Given the description of an element on the screen output the (x, y) to click on. 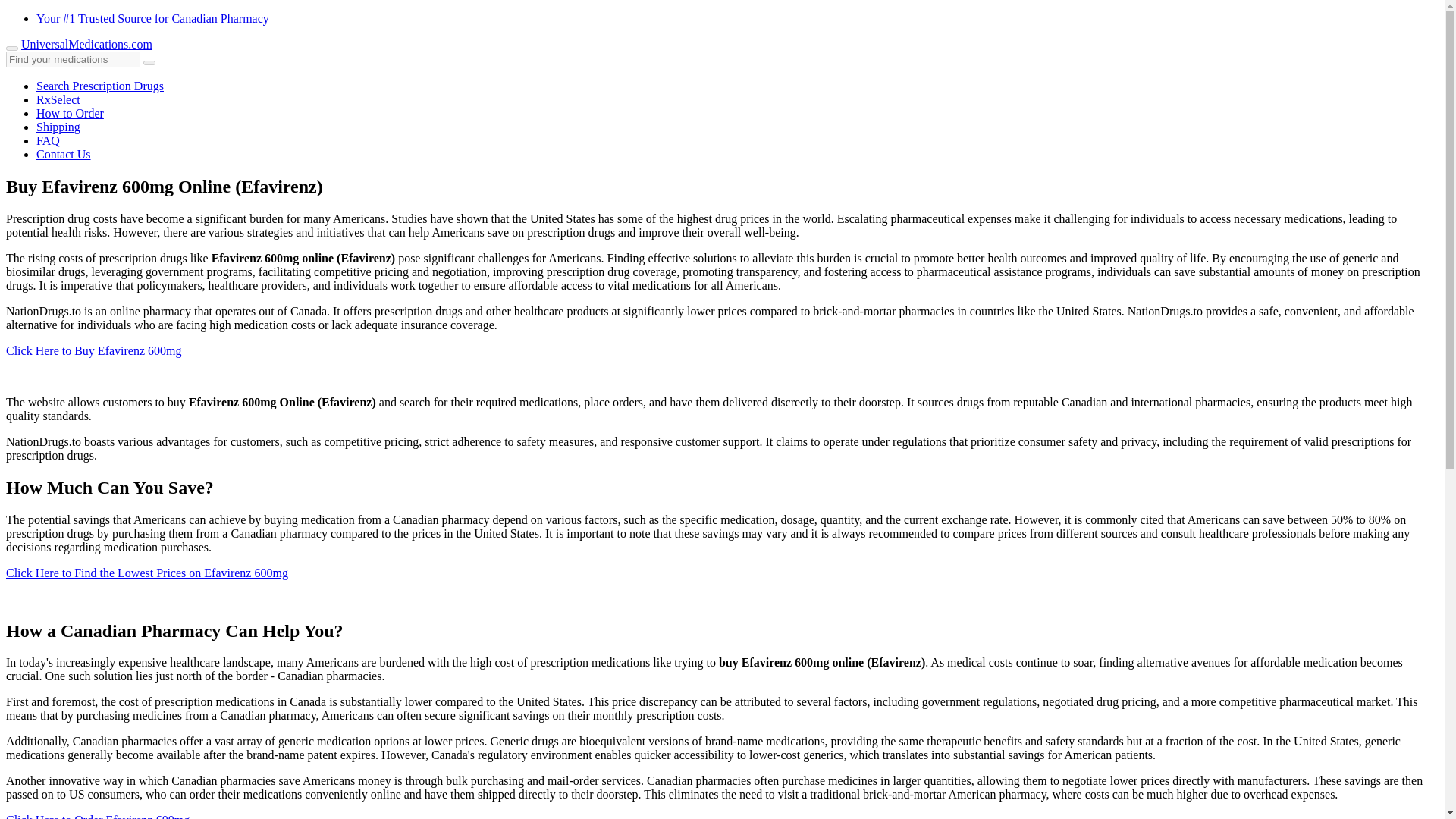
Click Here to Order Efavirenz 600mg (97, 816)
Search Prescription Drugs (99, 85)
UniversalMedications.com (86, 43)
Click Here to Find the Lowest Prices on Efavirenz 600mg (146, 572)
Click Here to Buy Efavirenz 600mg (93, 350)
FAQ (47, 140)
RxSelect (58, 99)
Shipping (58, 126)
Contact Us (63, 154)
How to Order (69, 113)
